Given the description of an element on the screen output the (x, y) to click on. 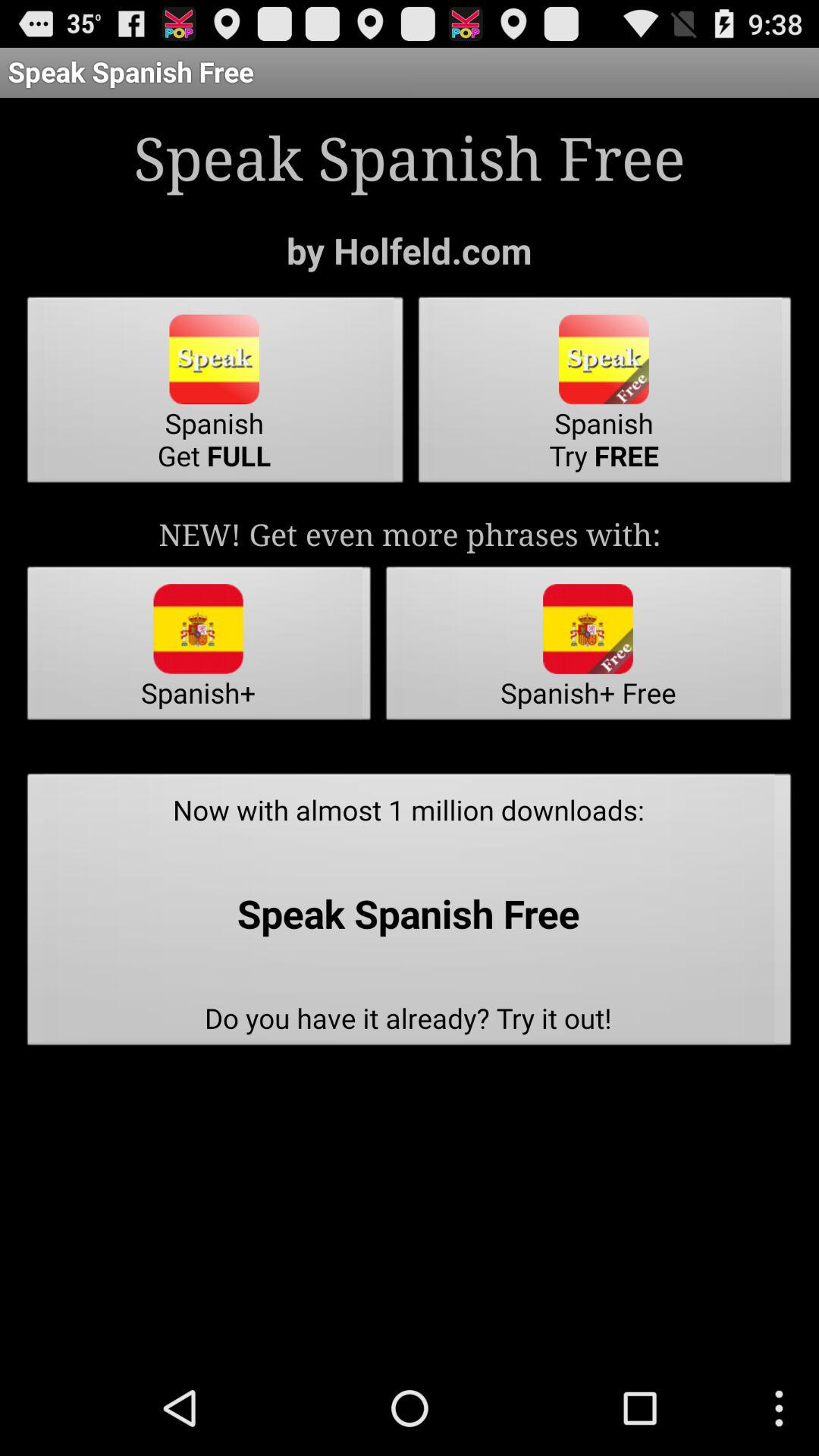
launch icon to the left of the spanish
try free (215, 394)
